Given the description of an element on the screen output the (x, y) to click on. 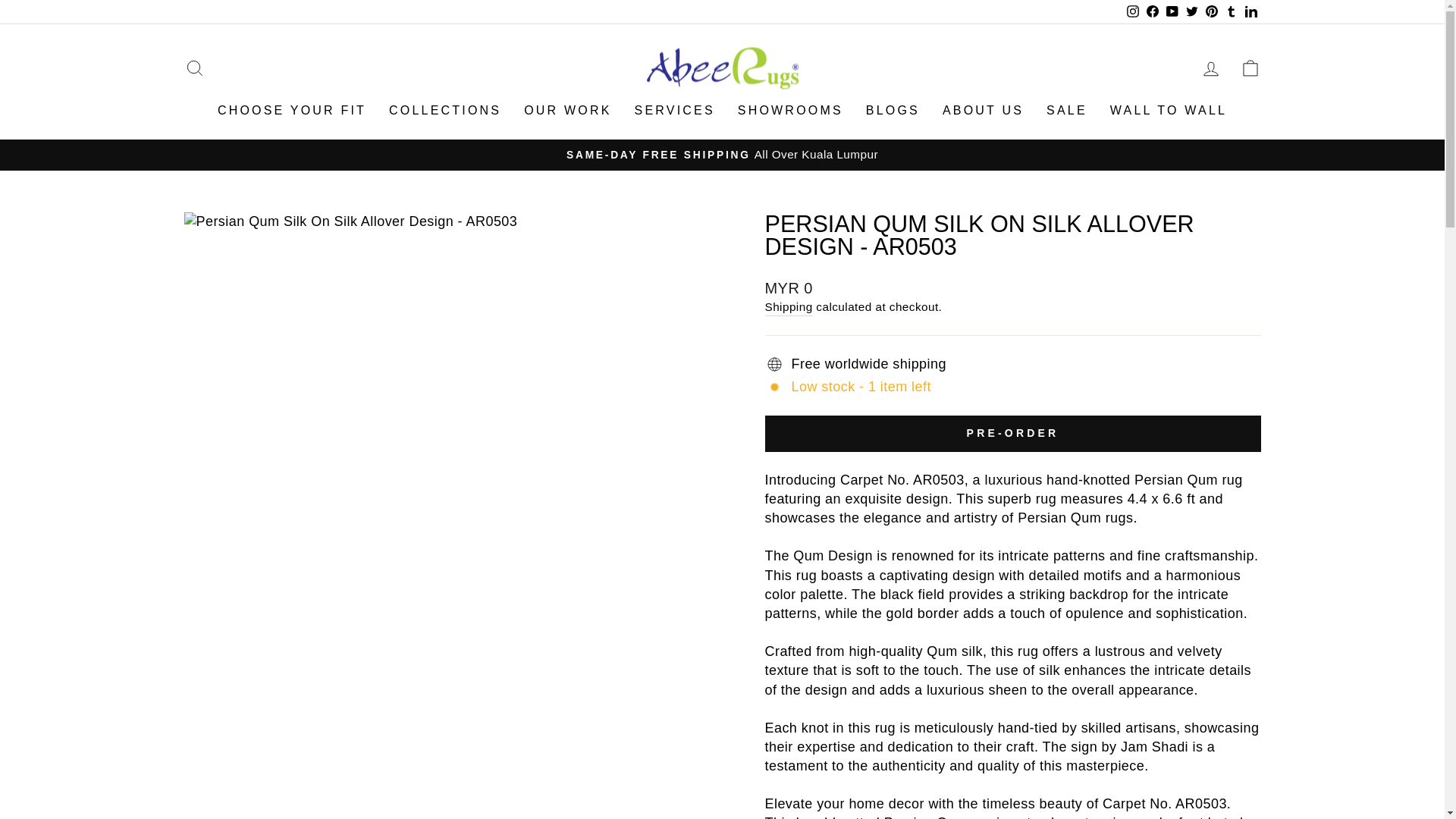
Abee Rugs on LinkedIn (1250, 11)
Abee Rugs on Facebook (1151, 11)
Abee Rugs on Twitter (1190, 11)
Abee Rugs on Pinterest (1211, 11)
Abee Rugs on YouTube (1170, 11)
Abee Rugs on Instagram (1131, 11)
Abee Rugs on Tumblr (1230, 11)
